Given the description of an element on the screen output the (x, y) to click on. 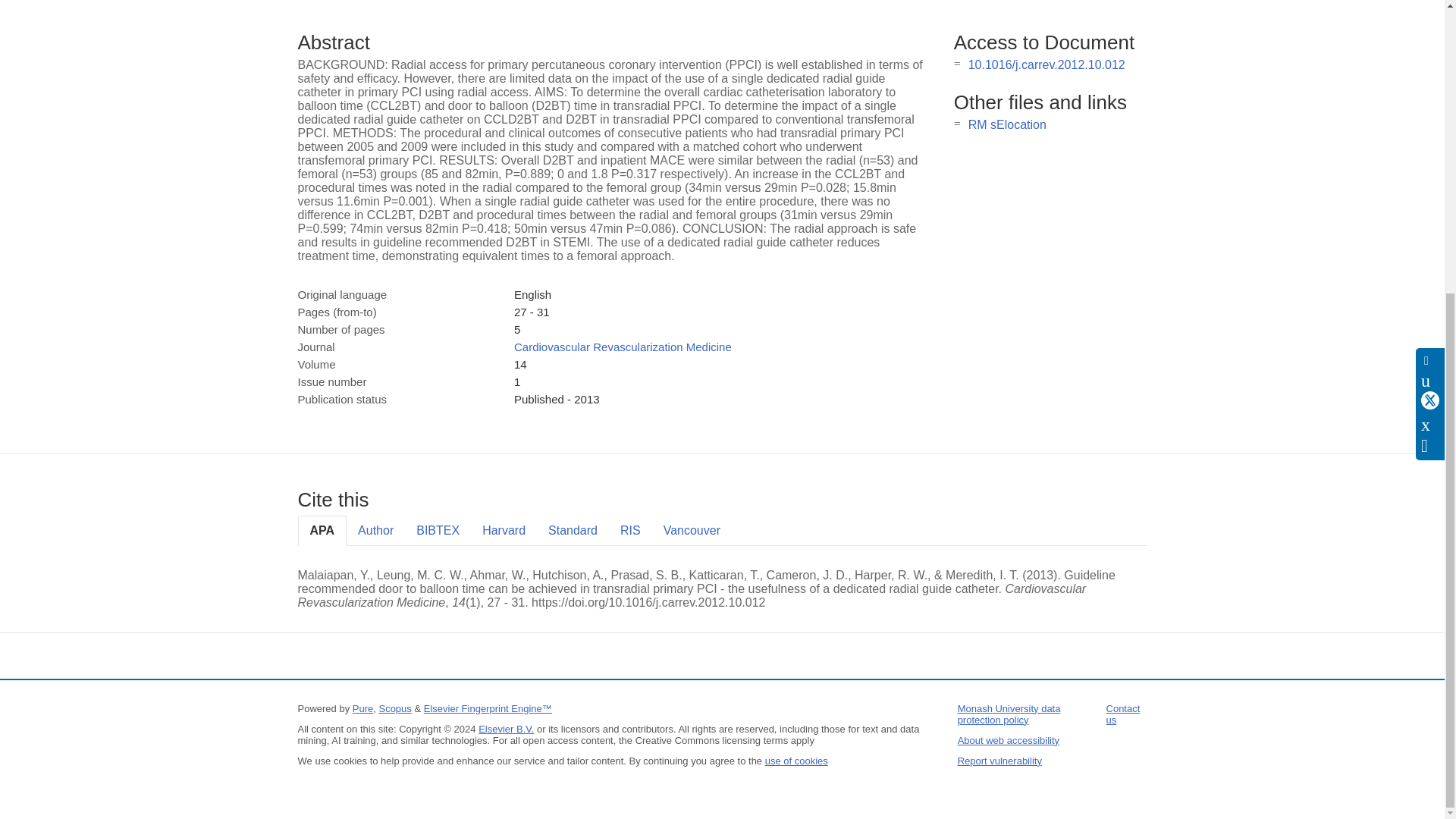
use of cookies (796, 760)
Scopus (394, 708)
Monash University data protection policy (1009, 713)
About web accessibility (1008, 740)
Contact us (1123, 713)
Cardiovascular Revascularization Medicine (622, 346)
Report vulnerability (1000, 760)
Elsevier B.V. (506, 728)
Pure (362, 708)
RM sElocation (1007, 124)
